Given the description of an element on the screen output the (x, y) to click on. 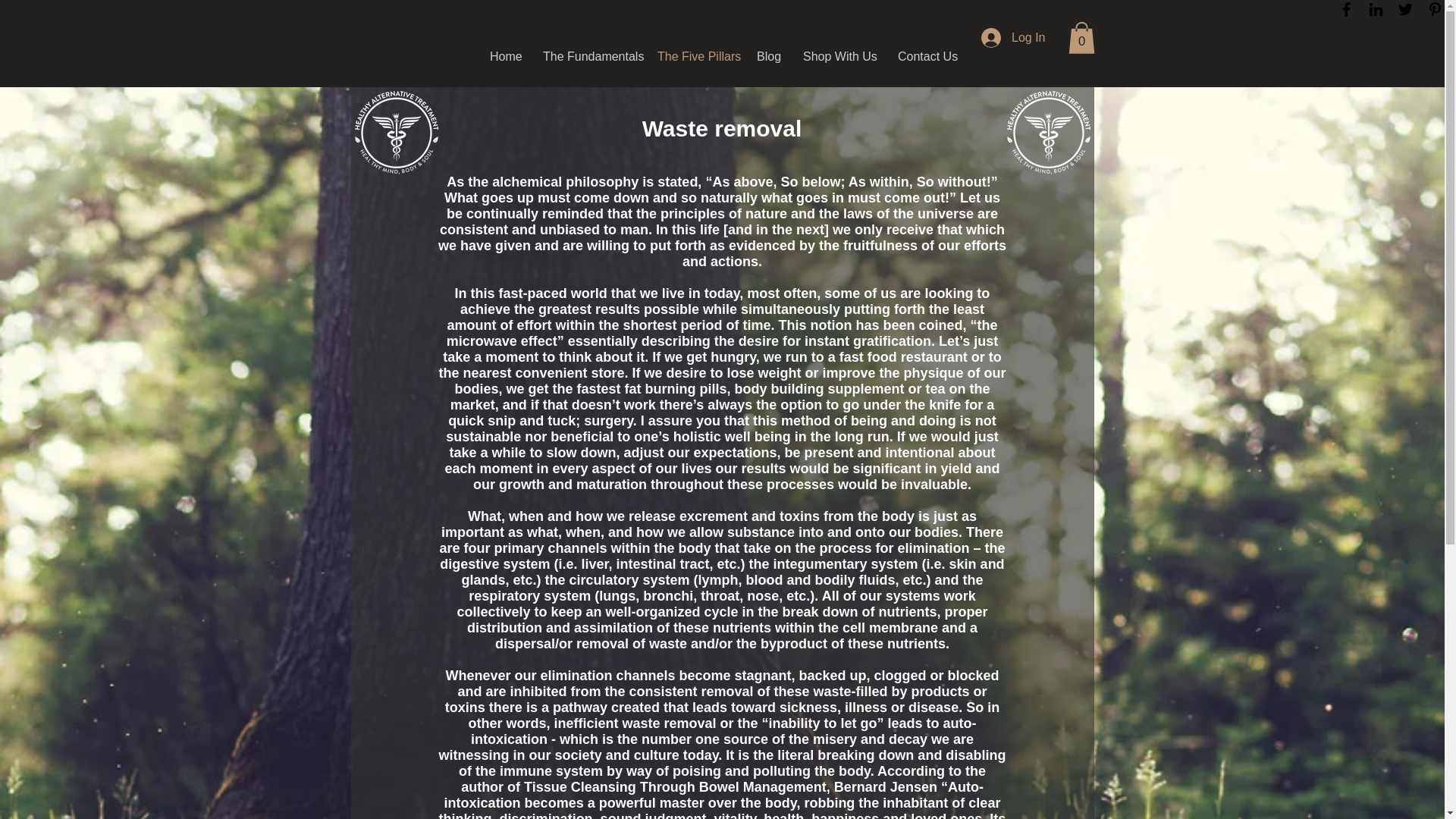
Logo Transparency white.png (1048, 132)
Home (505, 56)
The Fundamentals (588, 56)
The Five Pillars (695, 56)
Contact Us (926, 56)
Blog (768, 56)
Logo Transparency white.png (396, 132)
Log In (1013, 37)
